Given the description of an element on the screen output the (x, y) to click on. 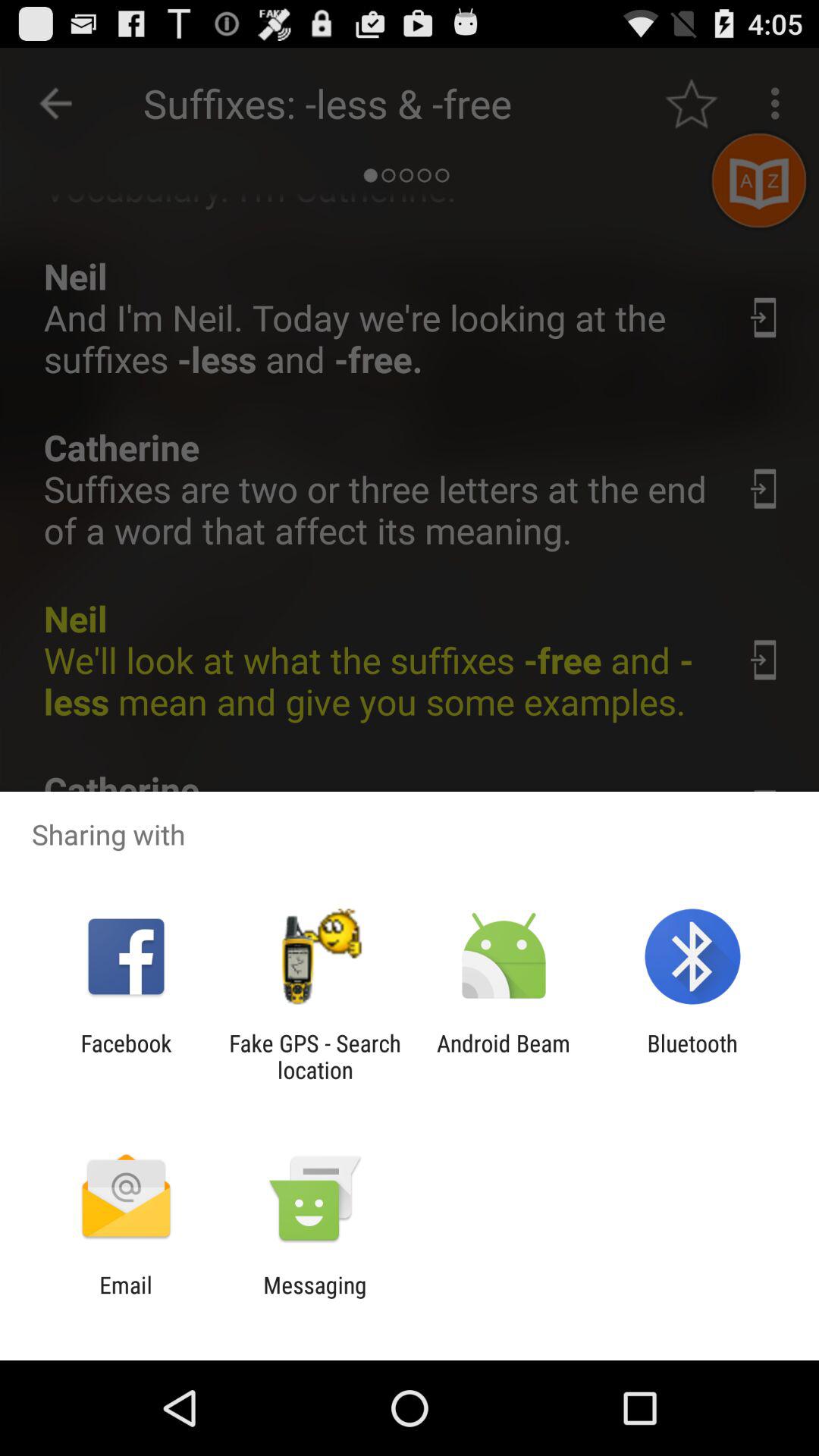
press the item next to the email app (314, 1298)
